Given the description of an element on the screen output the (x, y) to click on. 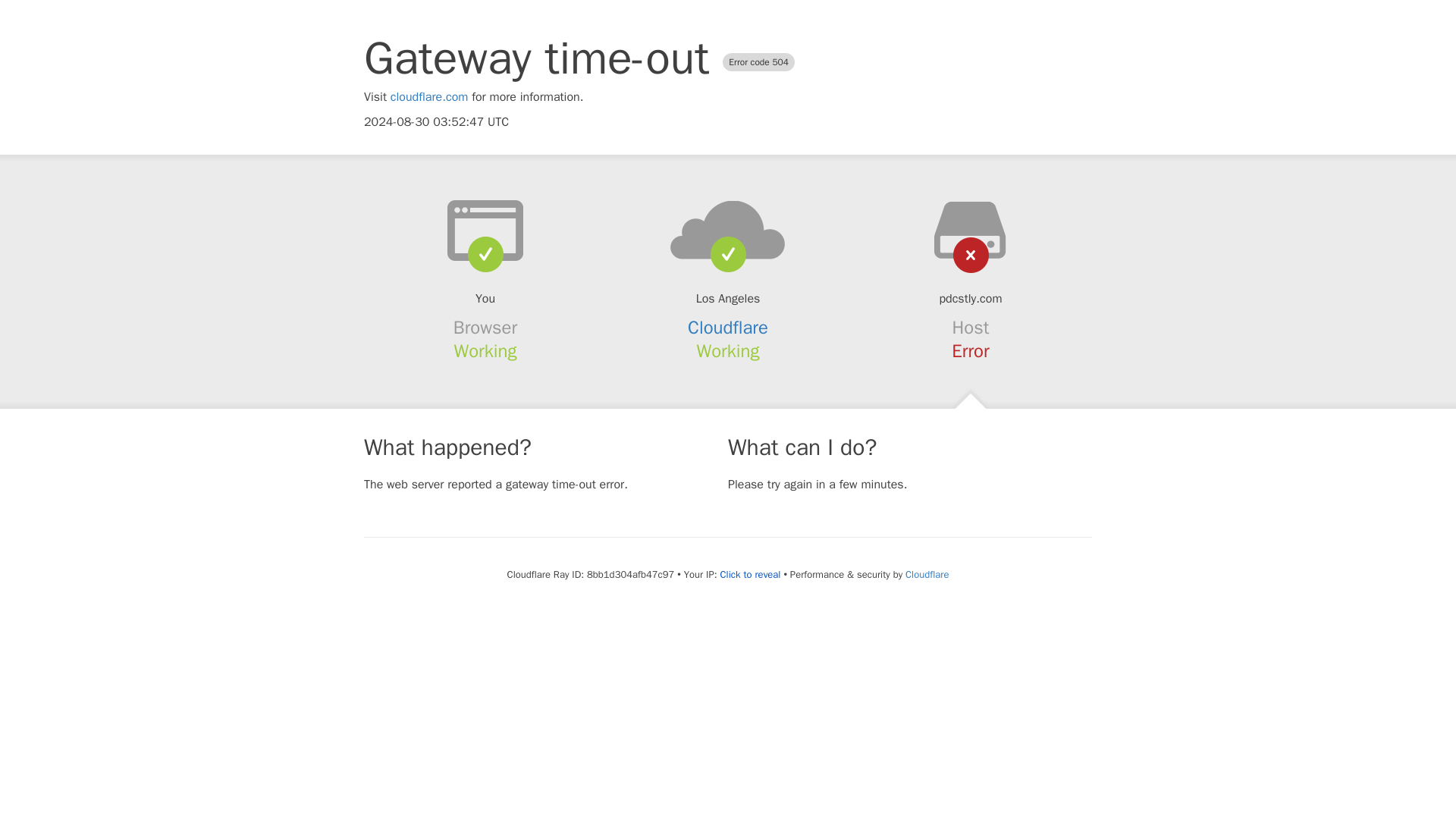
cloudflare.com (429, 96)
Cloudflare (927, 574)
Cloudflare (727, 327)
Click to reveal (750, 574)
